Given the description of an element on the screen output the (x, y) to click on. 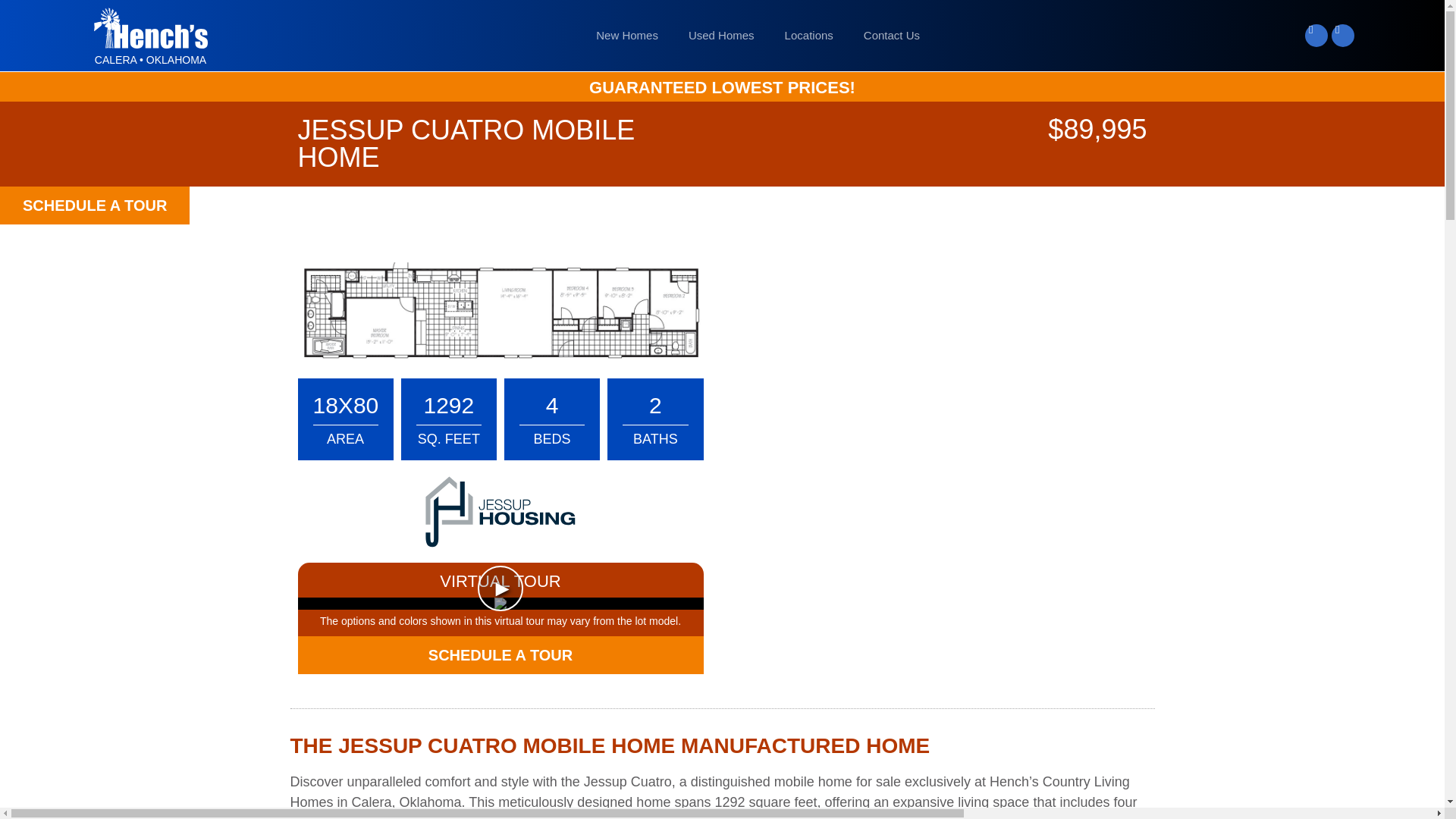
New Homes (626, 35)
SCHEDULE A TOUR (94, 205)
Locations (809, 35)
Used Homes (721, 35)
Contact Us (891, 35)
SCHEDULE A TOUR (500, 655)
